Given the description of an element on the screen output the (x, y) to click on. 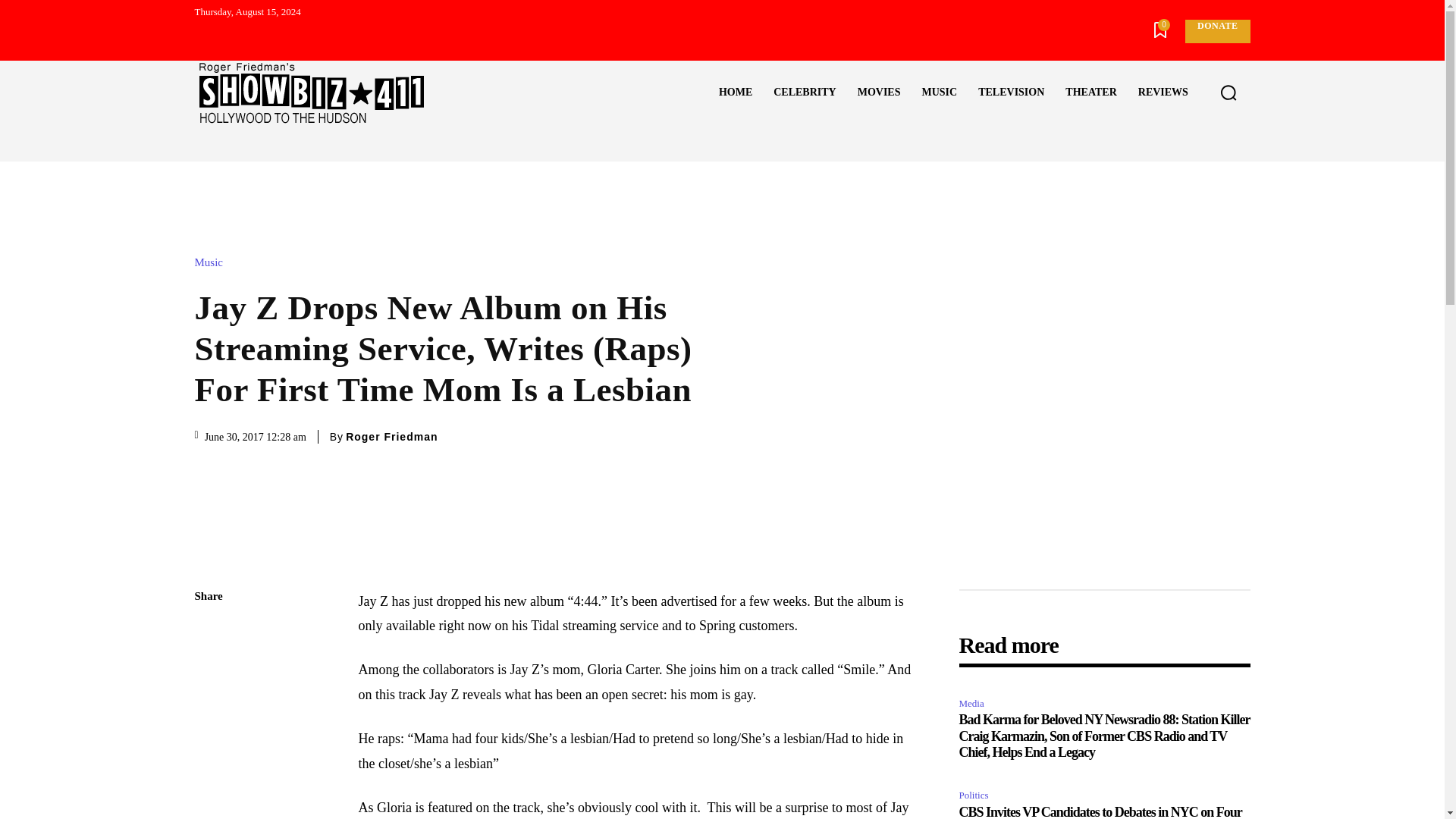
MUSIC (939, 92)
Donate (1217, 31)
DONATE (1217, 31)
TELEVISION (1011, 92)
HOME (734, 92)
THEATER (1090, 92)
REVIEWS (1162, 92)
MOVIES (879, 92)
CELEBRITY (803, 92)
Music (211, 262)
